Given the description of an element on the screen output the (x, y) to click on. 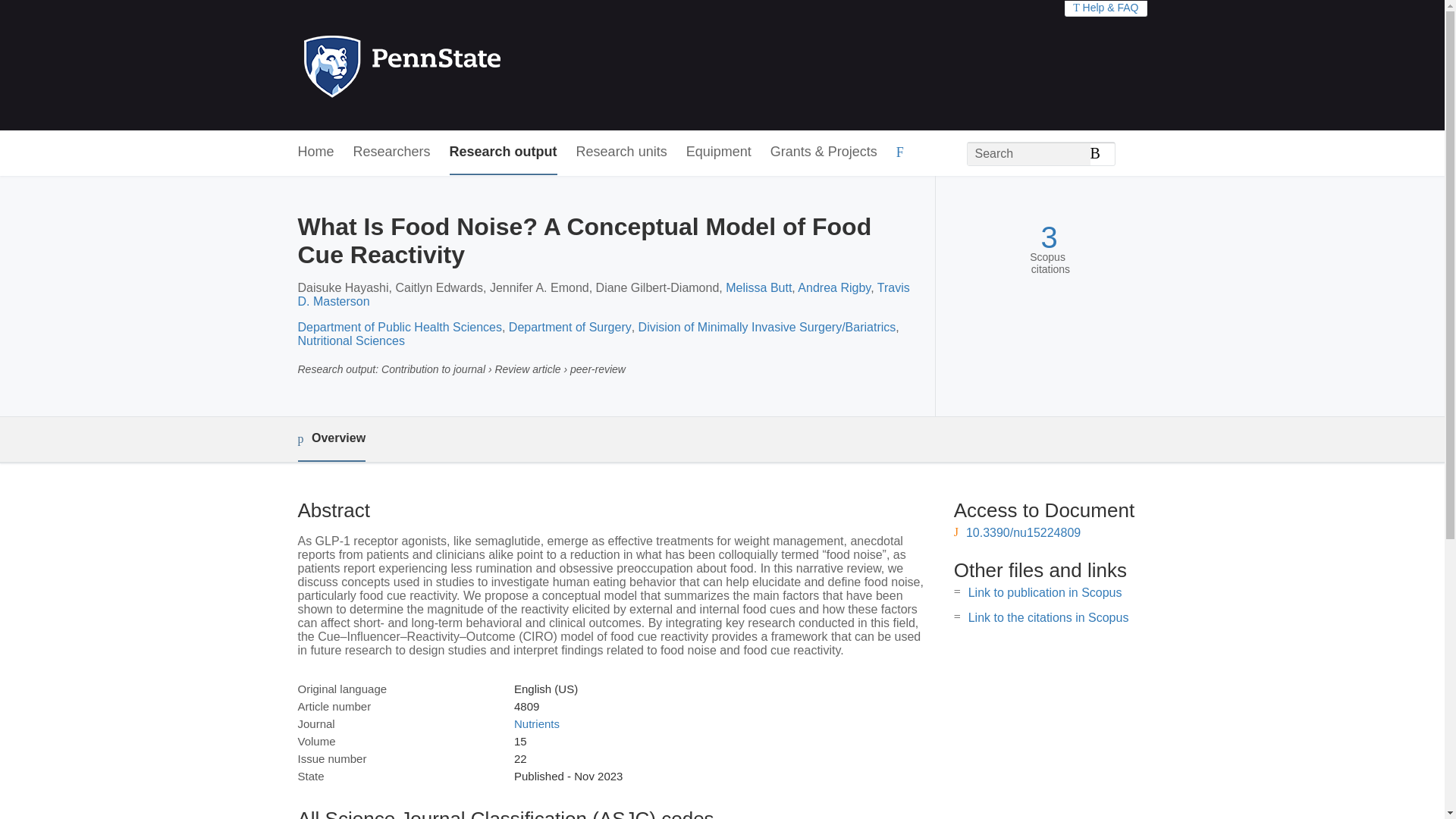
Equipment (718, 152)
Melissa Butt (758, 287)
Link to publication in Scopus (1045, 592)
Andrea Rigby (833, 287)
Research output (503, 152)
Overview (331, 438)
Research units (621, 152)
Department of Public Health Sciences (398, 327)
Penn State Home (467, 65)
Researchers (391, 152)
Travis D. Masterson (602, 294)
Department of Surgery (569, 327)
Link to the citations in Scopus (1048, 617)
Nutritional Sciences (350, 340)
